Given the description of an element on the screen output the (x, y) to click on. 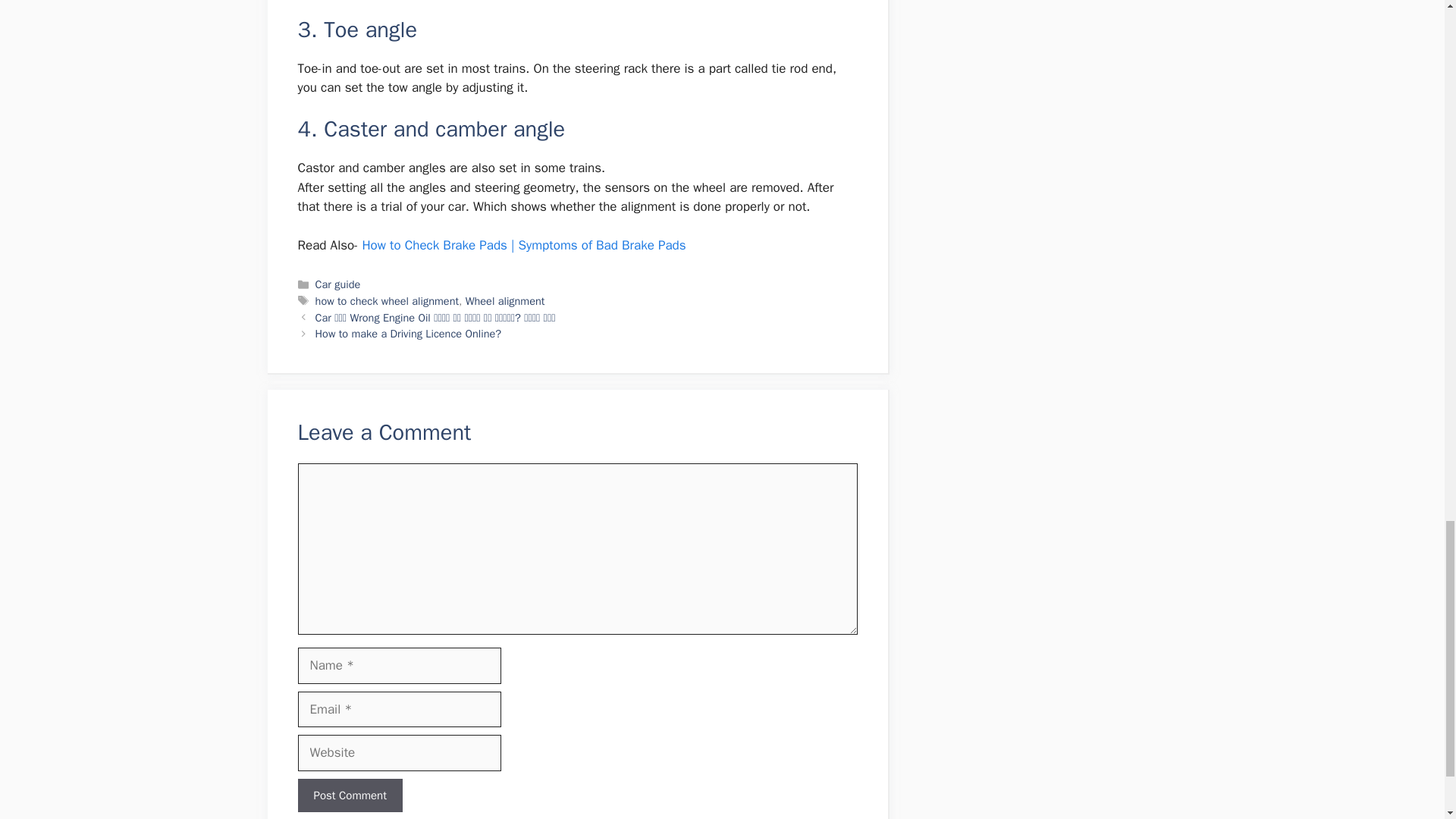
Car guide (338, 284)
how to check wheel alignment (386, 300)
Post Comment (349, 795)
Wheel alignment (504, 300)
Post Comment (349, 795)
How to make a Driving Licence Online? (407, 333)
